Given the description of an element on the screen output the (x, y) to click on. 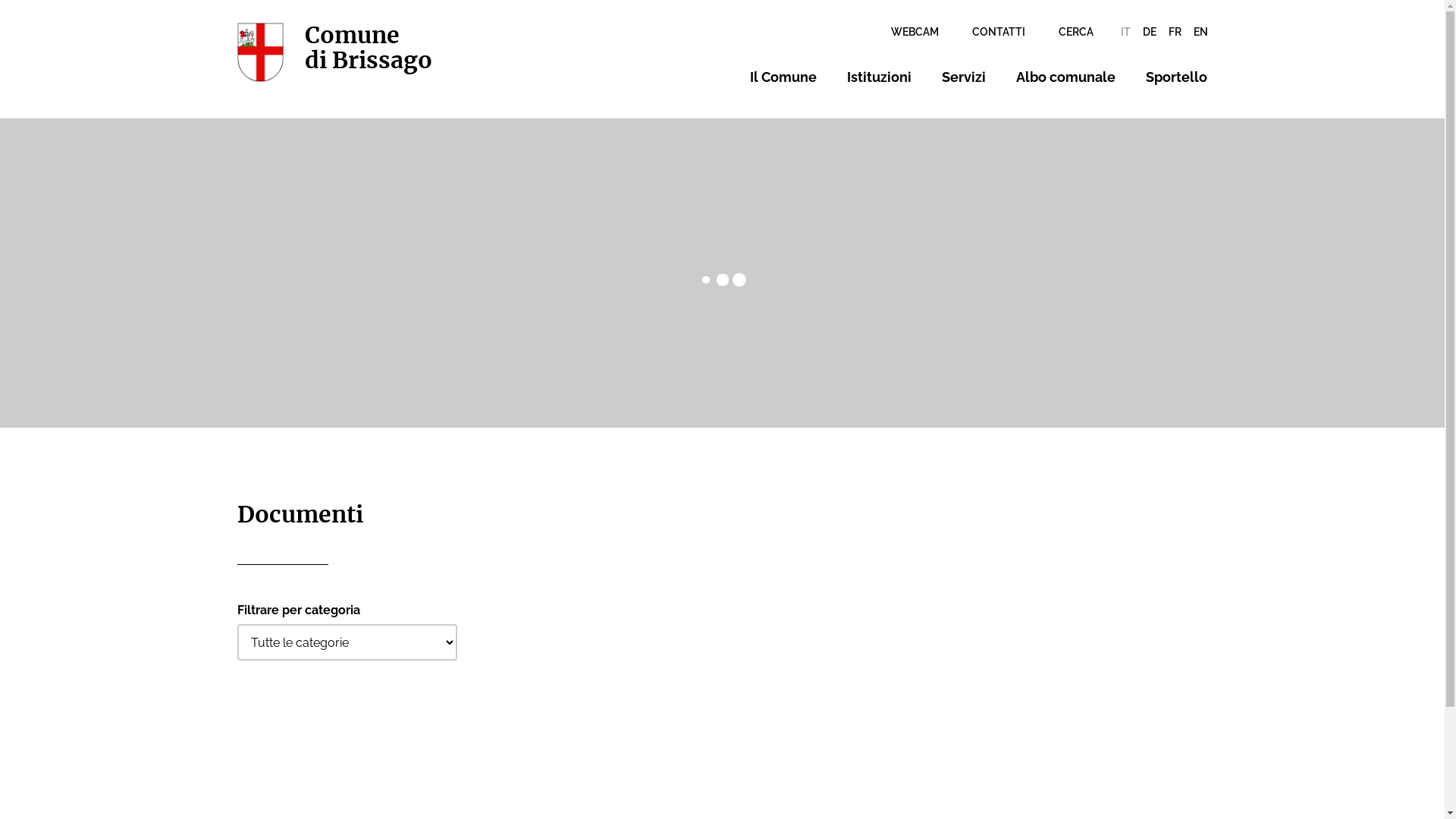
Servizi Element type: text (963, 76)
Il Comune Element type: text (782, 76)
FR Element type: text (1173, 31)
EN Element type: text (1200, 31)
Istituzioni Element type: text (879, 76)
WEBCAM Element type: text (914, 31)
Comune
di Brissago Element type: text (334, 51)
CONTATTI Element type: text (998, 31)
Albo comunale Element type: text (1065, 76)
Sportello Element type: text (1176, 76)
DE Element type: text (1148, 31)
IT Element type: text (1125, 31)
